Given the description of an element on the screen output the (x, y) to click on. 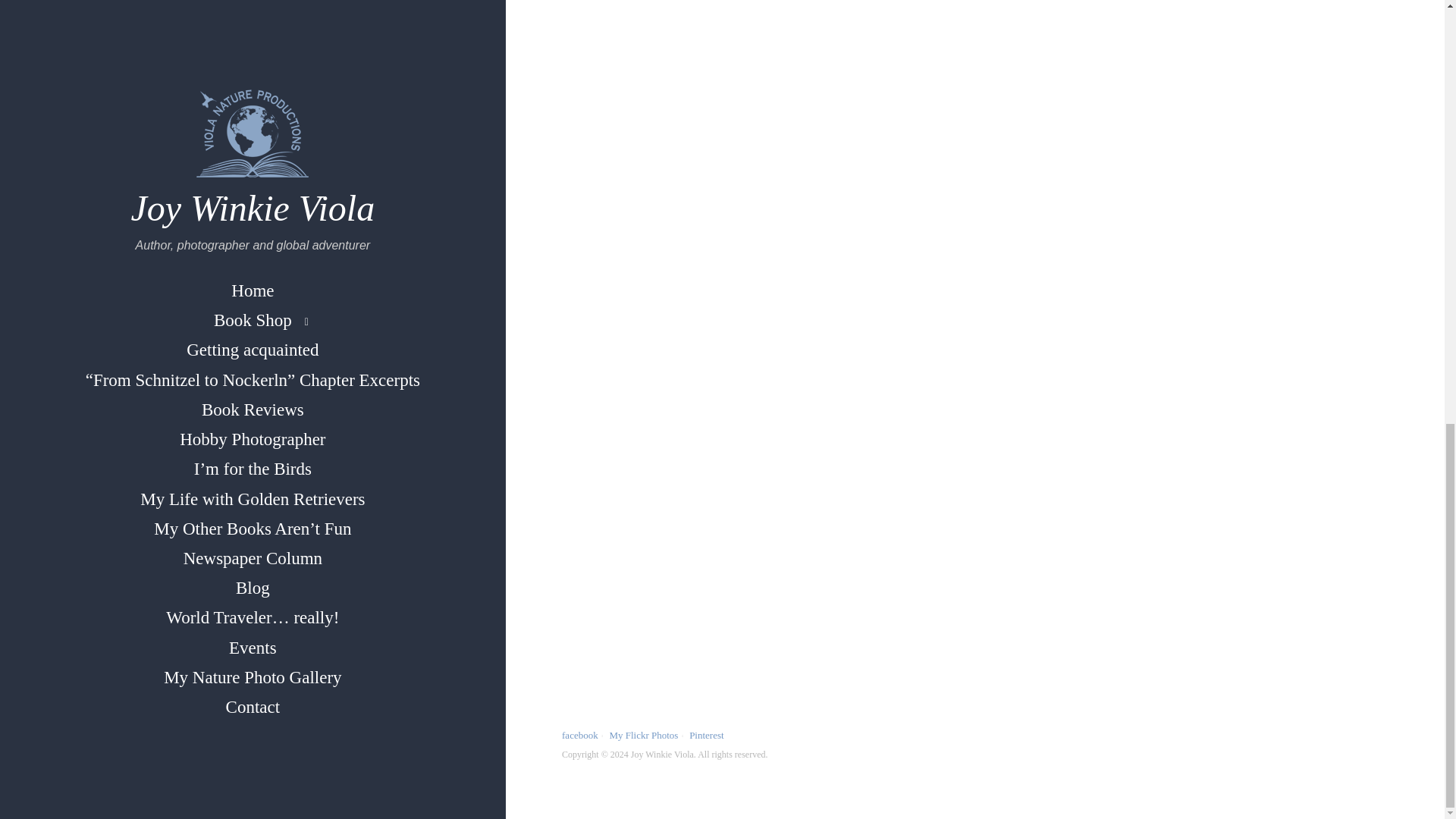
facebook (580, 735)
My Flickr Photos (643, 735)
Pinterest (705, 735)
